Given the description of an element on the screen output the (x, y) to click on. 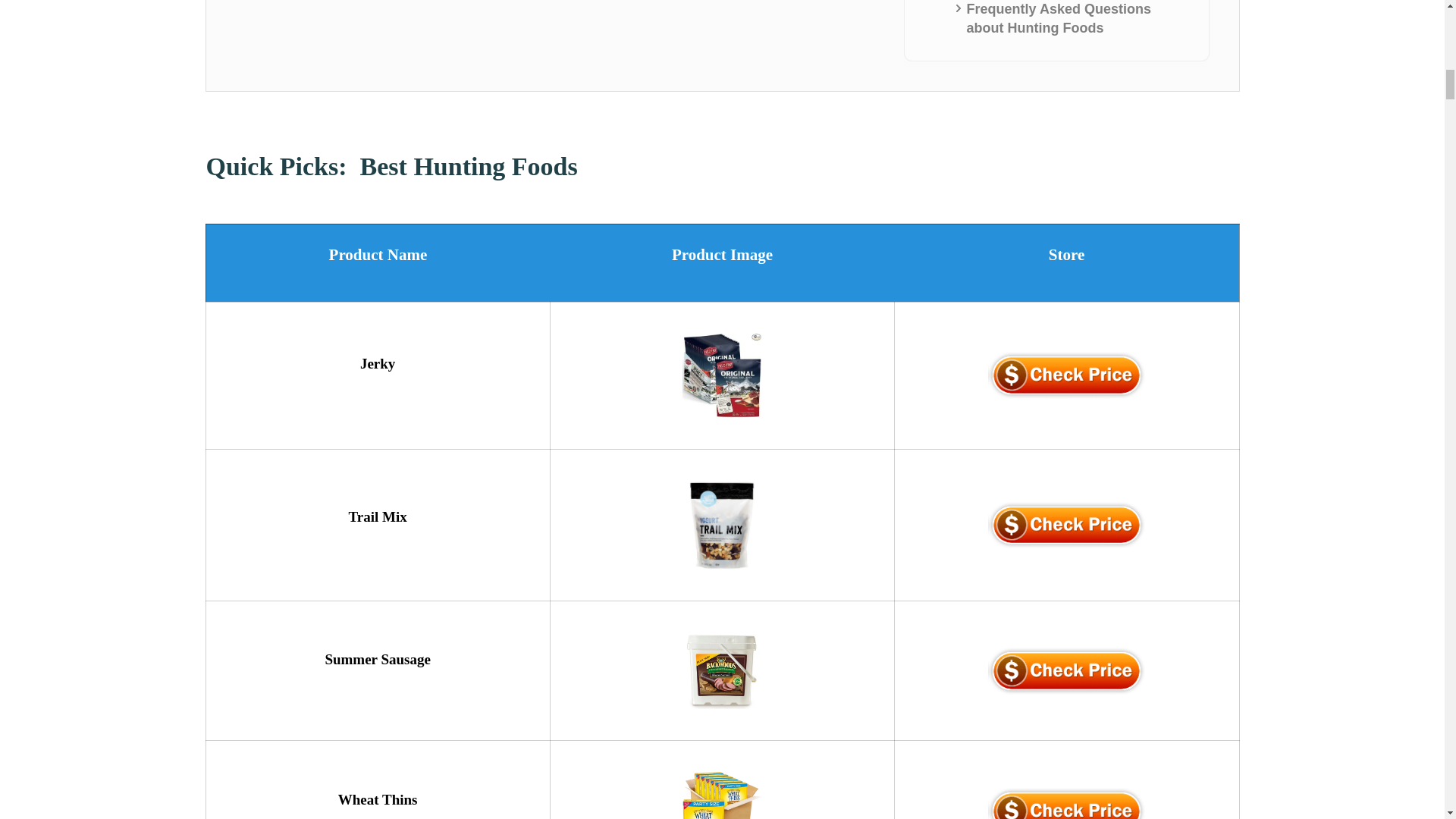
Frequently Asked Questions about Hunting Foods (1074, 18)
check-price-button (1066, 375)
Frequently Asked Questions about Hunting Foods (1074, 18)
check-price-button (1066, 670)
check-price-button (1066, 525)
check-price-button (1066, 803)
